Given the description of an element on the screen output the (x, y) to click on. 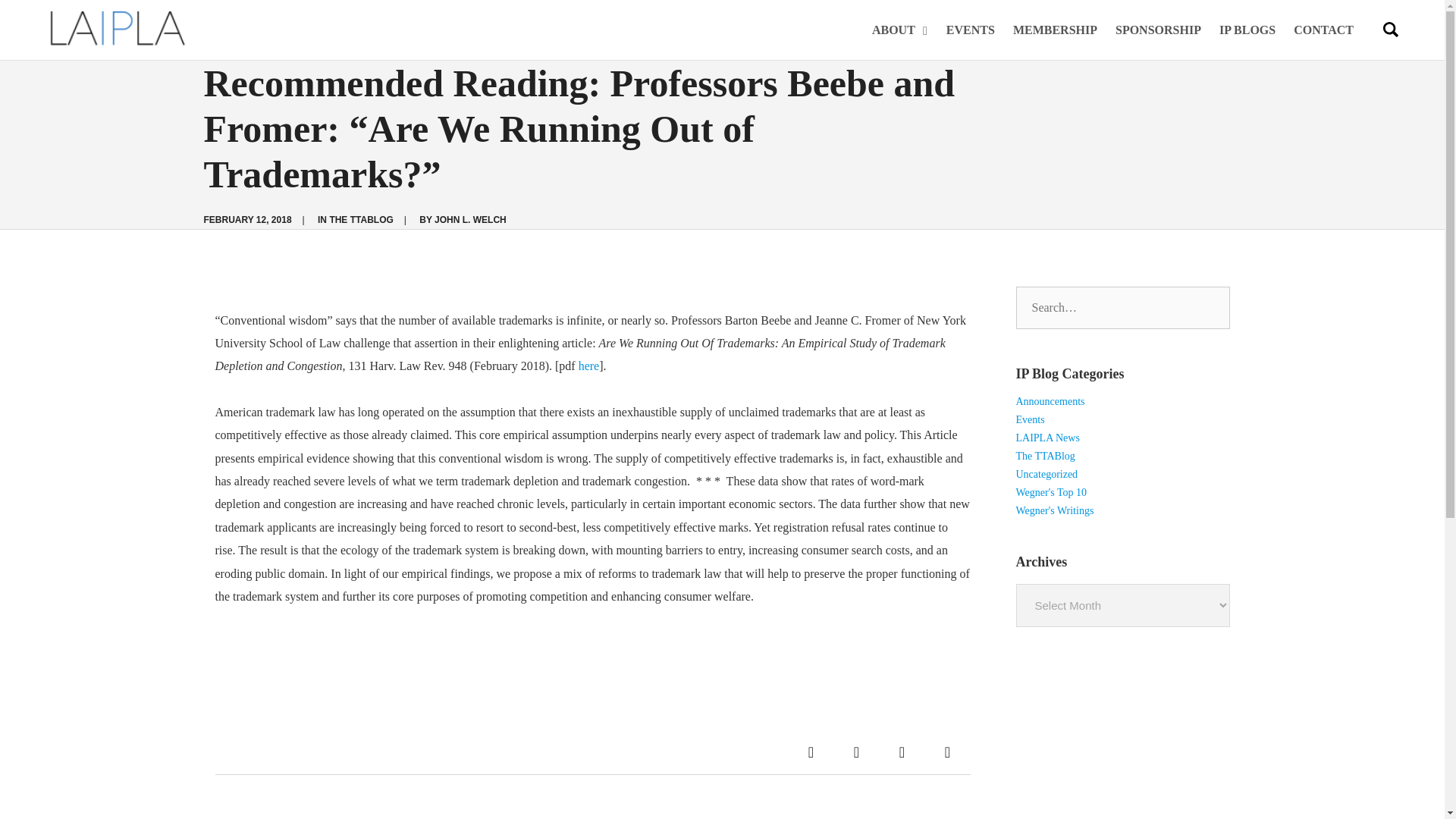
Share this. (947, 751)
ABOUT (904, 30)
Share this. (901, 751)
JOHN L. WELCH (469, 219)
SPONSORSHIP (1158, 30)
Tweet this. (856, 751)
IP BLOGS (1246, 30)
CONTACT (1319, 30)
MEMBERSHIP (1055, 30)
here (588, 365)
EVENTS (971, 30)
THE TTABLOG (361, 219)
Share this. (811, 751)
